Given the description of an element on the screen output the (x, y) to click on. 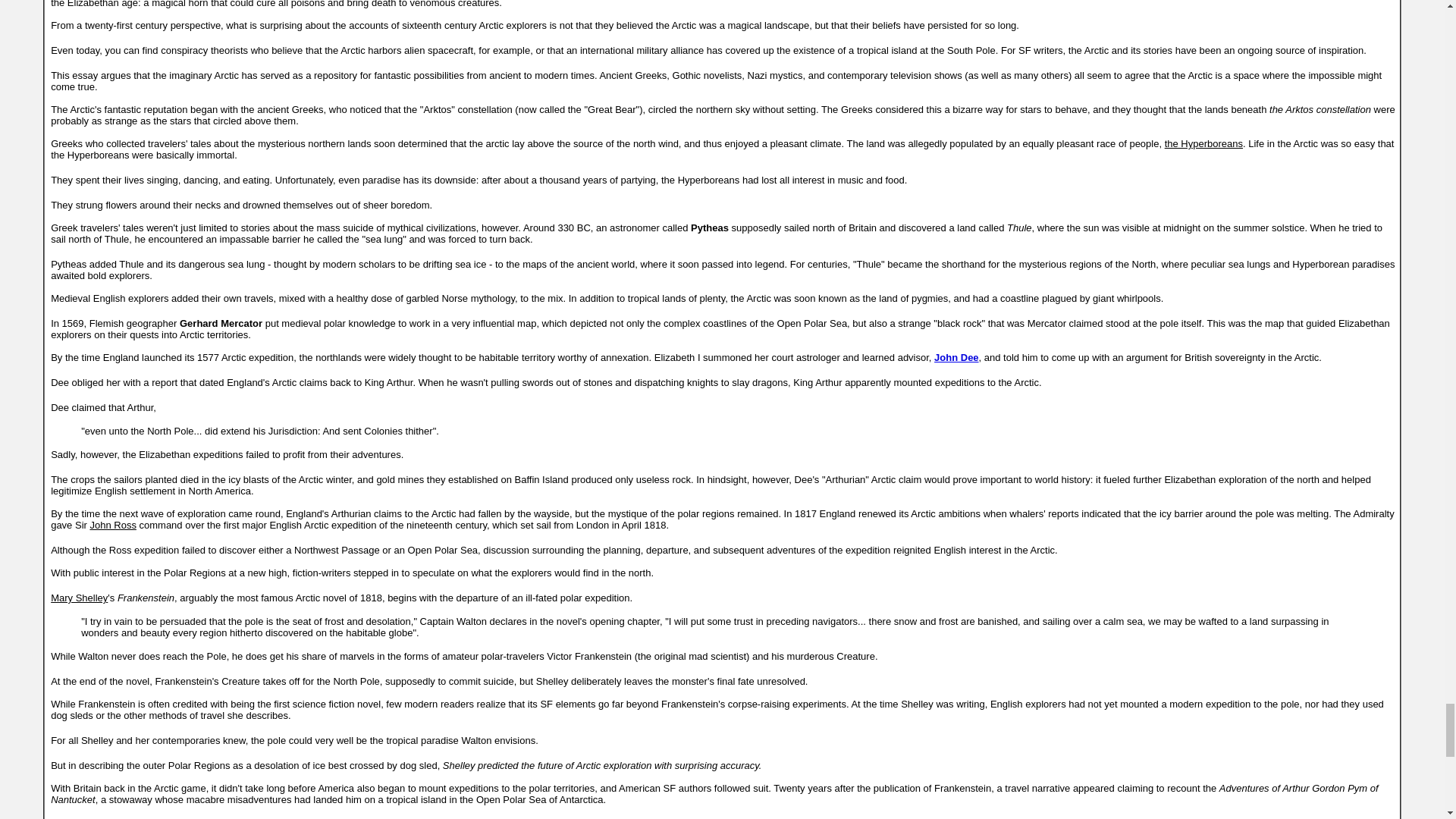
John Dee (956, 357)
